Given the description of an element on the screen output the (x, y) to click on. 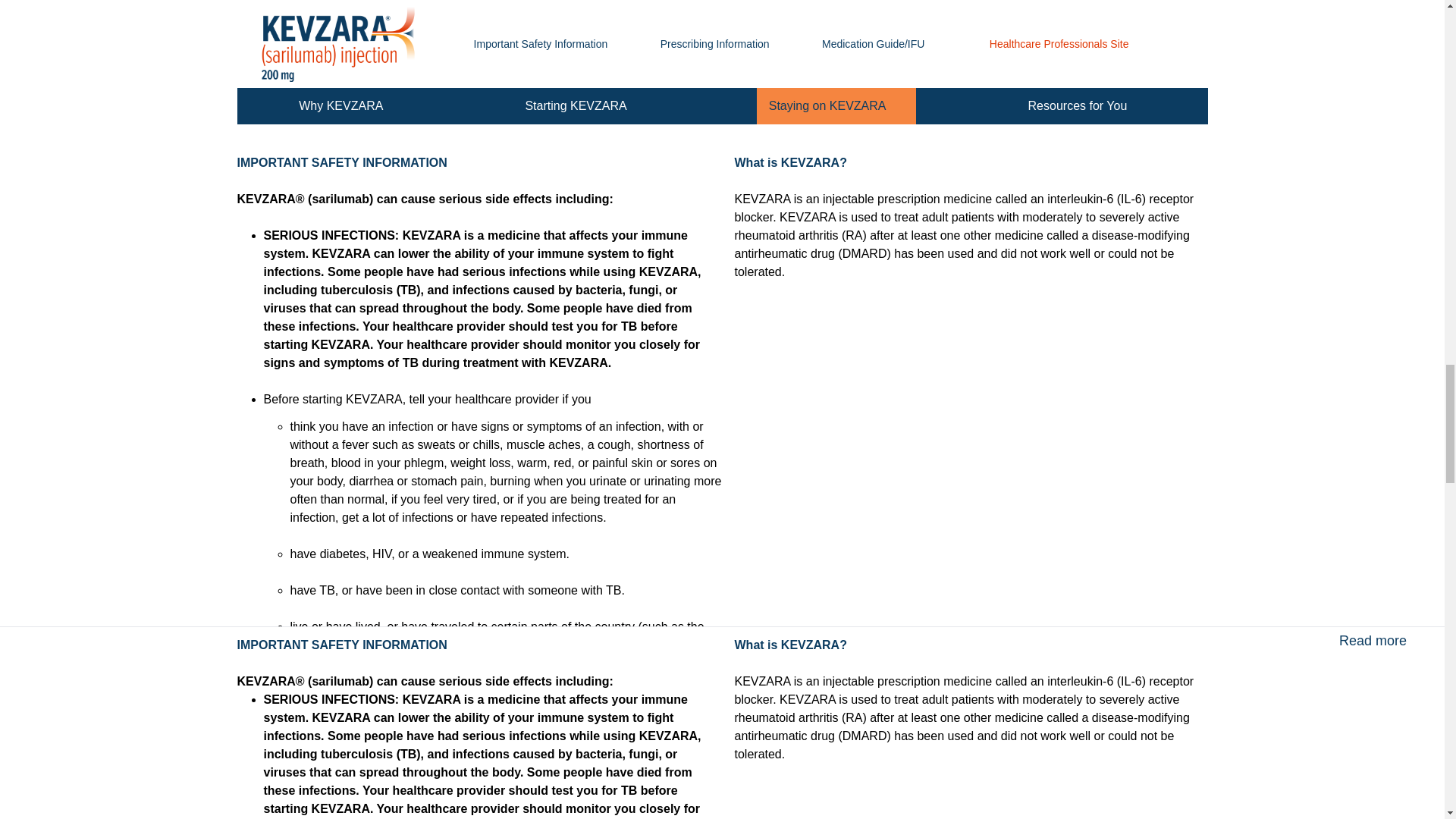
Building your support team (414, 95)
Talking to your doctor (1029, 95)
Download the owning your RA brochure (721, 95)
